Given the description of an element on the screen output the (x, y) to click on. 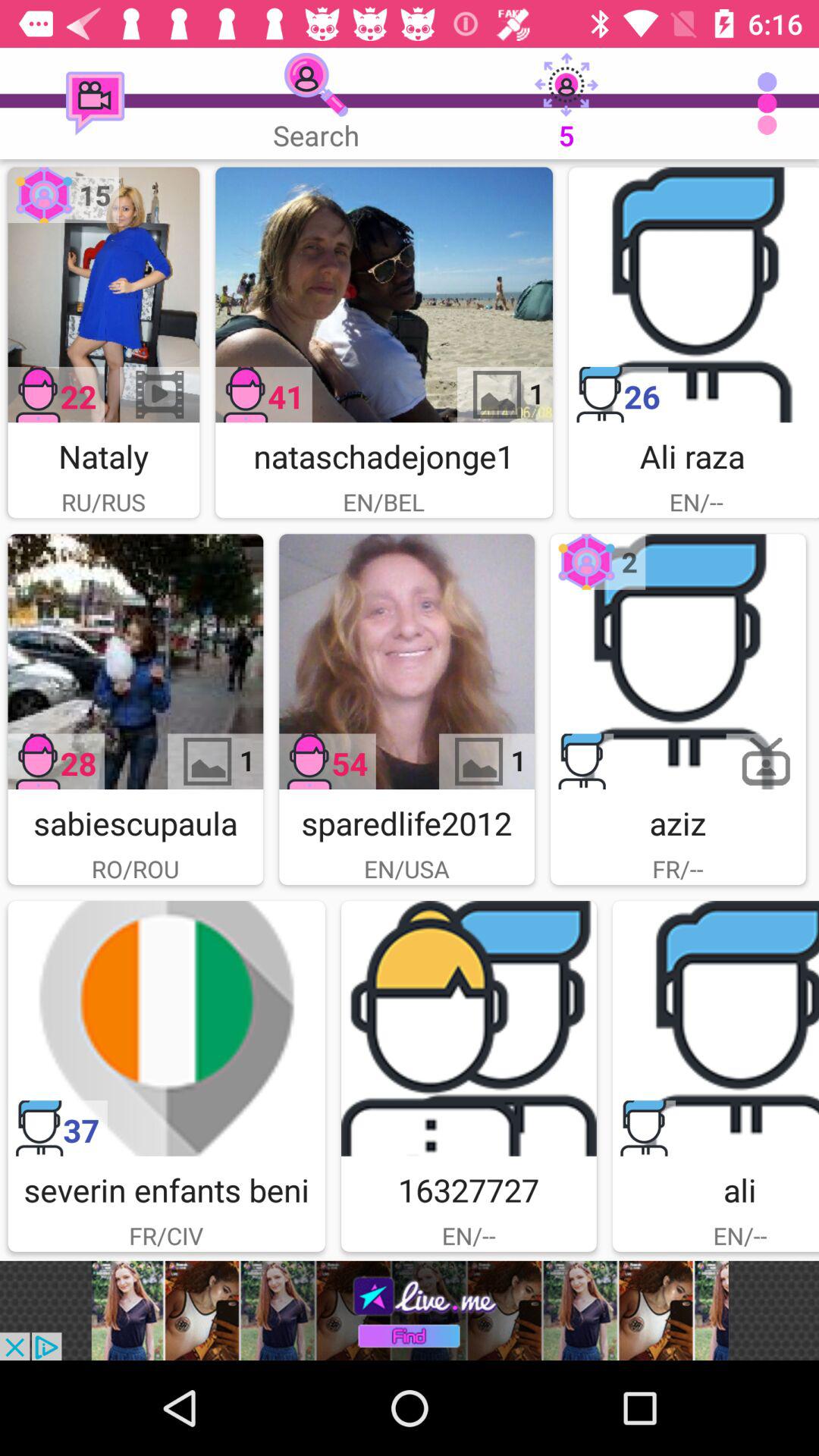
open image (383, 294)
